Given the description of an element on the screen output the (x, y) to click on. 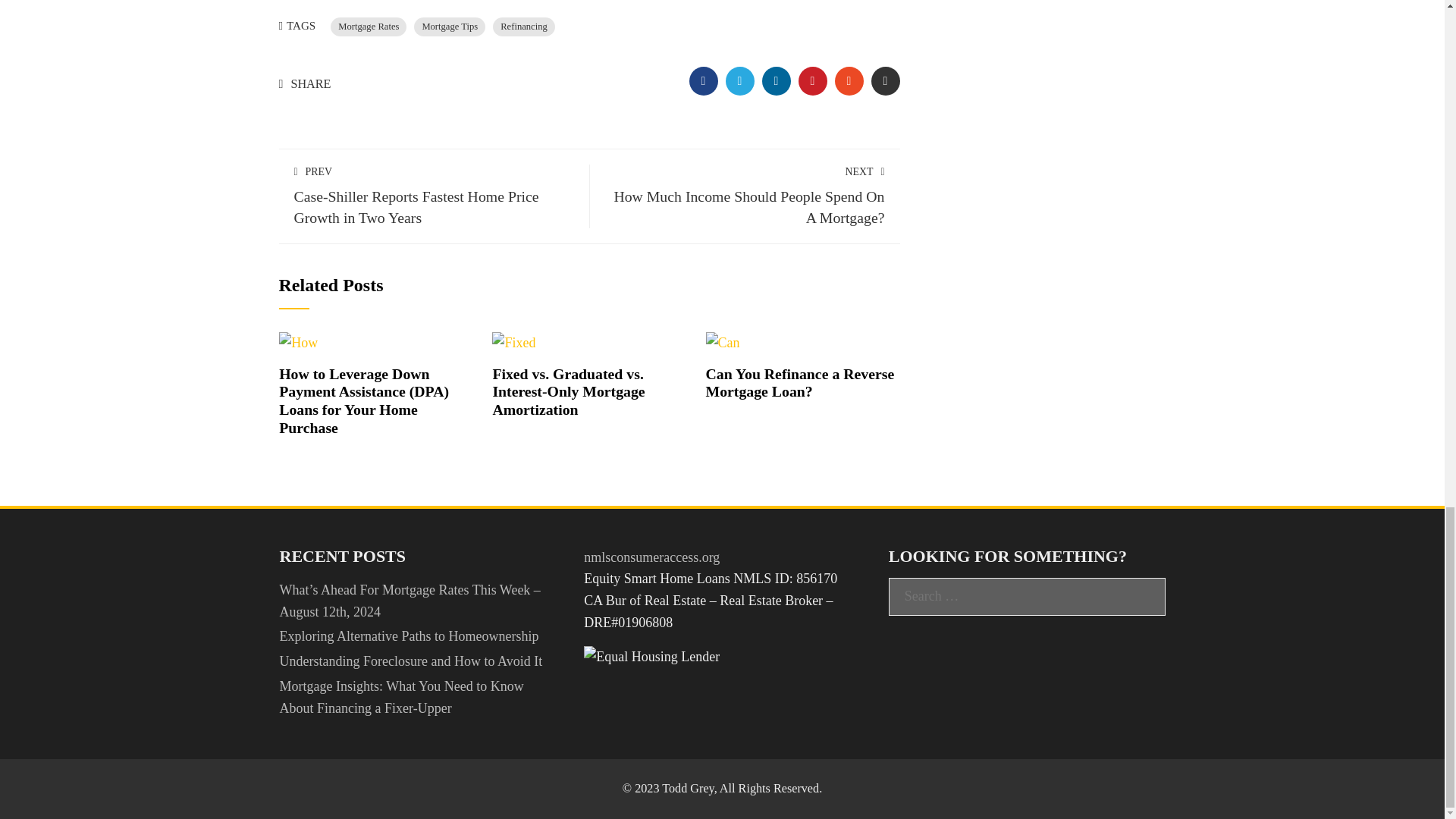
Can You Refinance a Reverse Mortgage Loan? (800, 382)
Can You Refinance a Reverse Mortgage Loan? (722, 340)
Fixed vs. Graduated vs. Interest-Only Mortgage Amortization (568, 391)
Fixed vs. Graduated vs. Interest-Only Mortgage Amortization (513, 340)
